Given the description of an element on the screen output the (x, y) to click on. 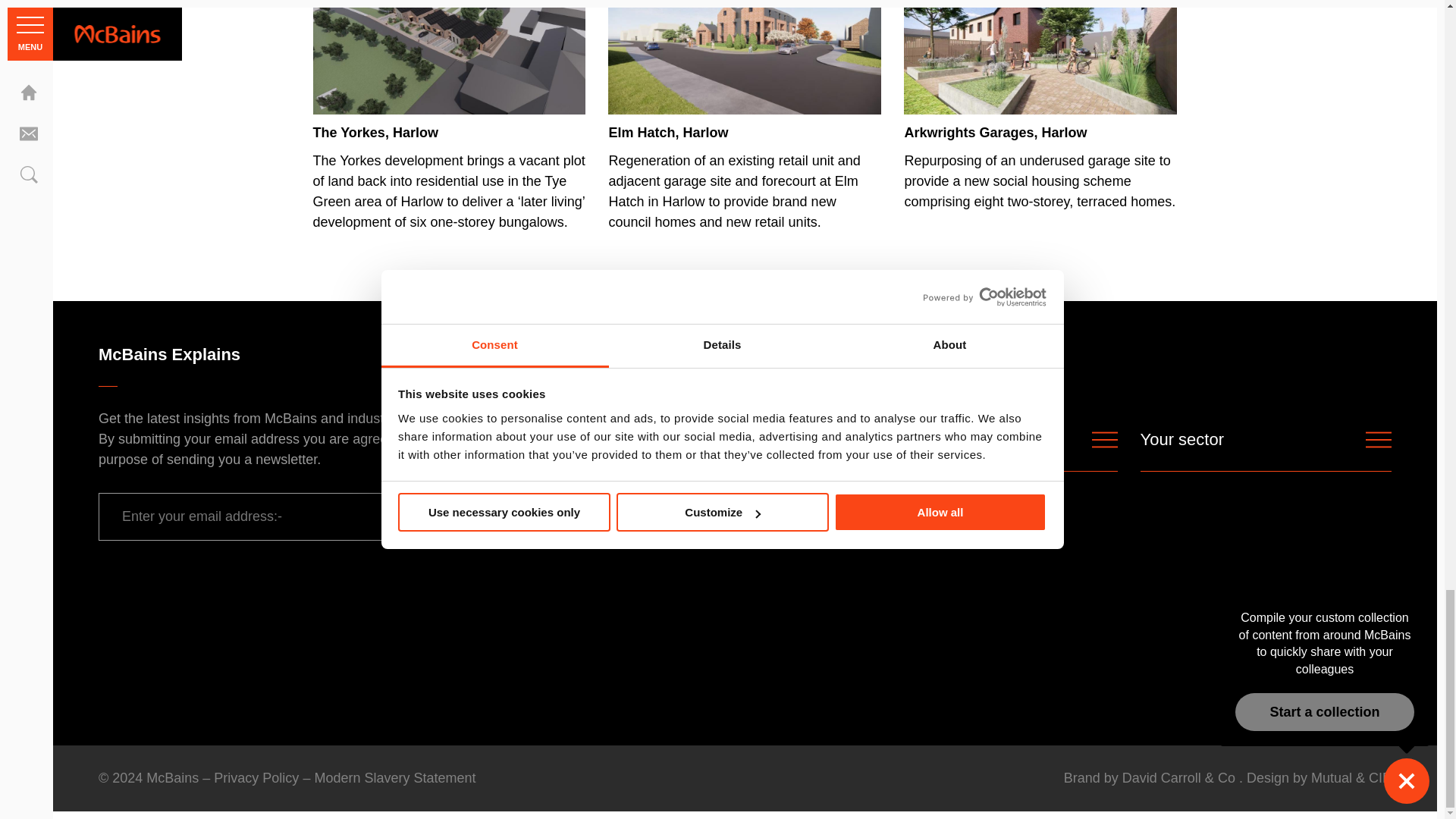
Find us on Twitter (588, 354)
Find us on Facebook (616, 354)
Find us on LinkedIn (561, 354)
Elm Hatch, Harlow (744, 115)
The Yorkes, Harlow (449, 115)
Arkwrights Garages, Harlow (1040, 105)
